Given the description of an element on the screen output the (x, y) to click on. 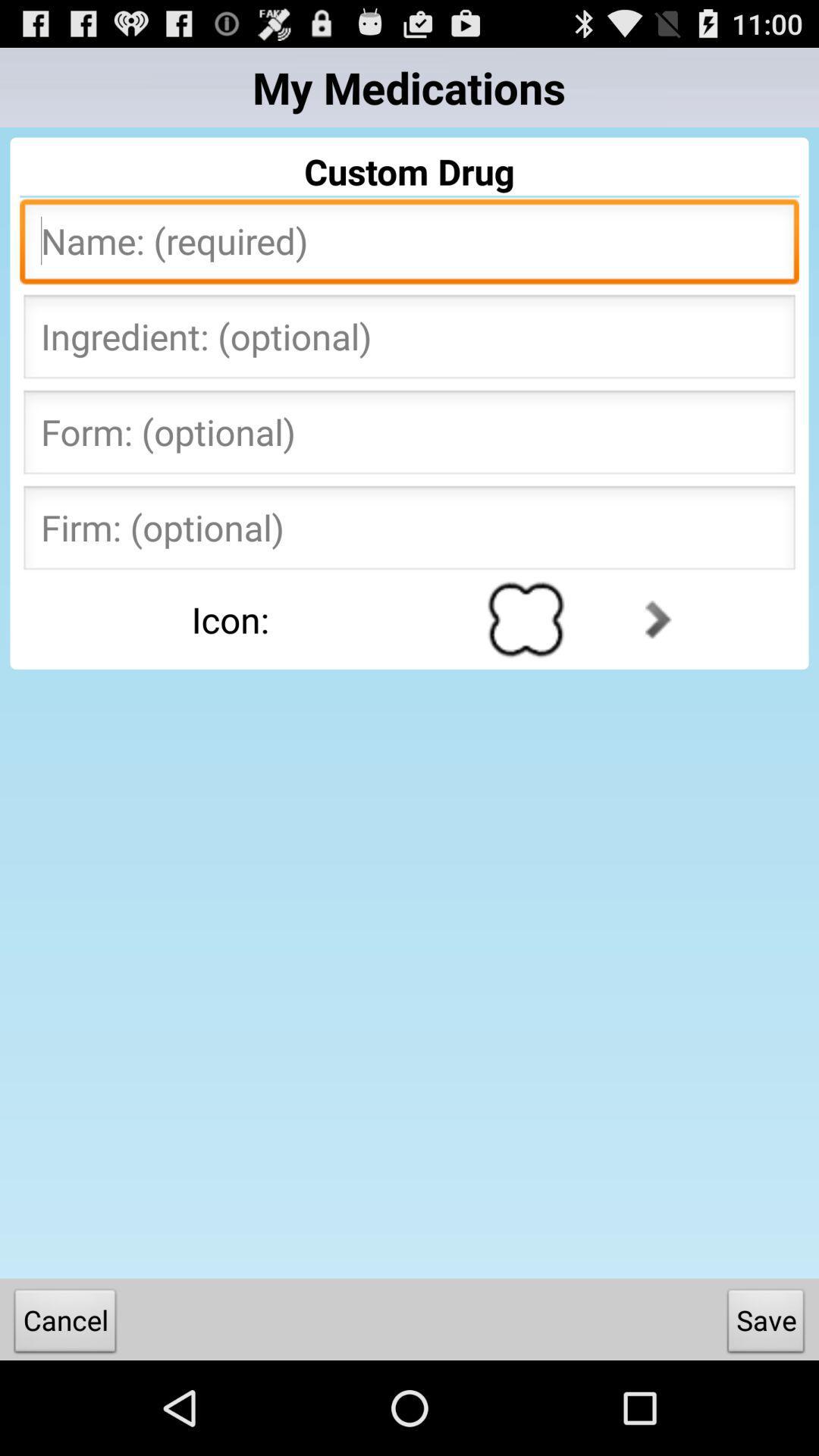
press button at the bottom right corner (765, 1324)
